Given the description of an element on the screen output the (x, y) to click on. 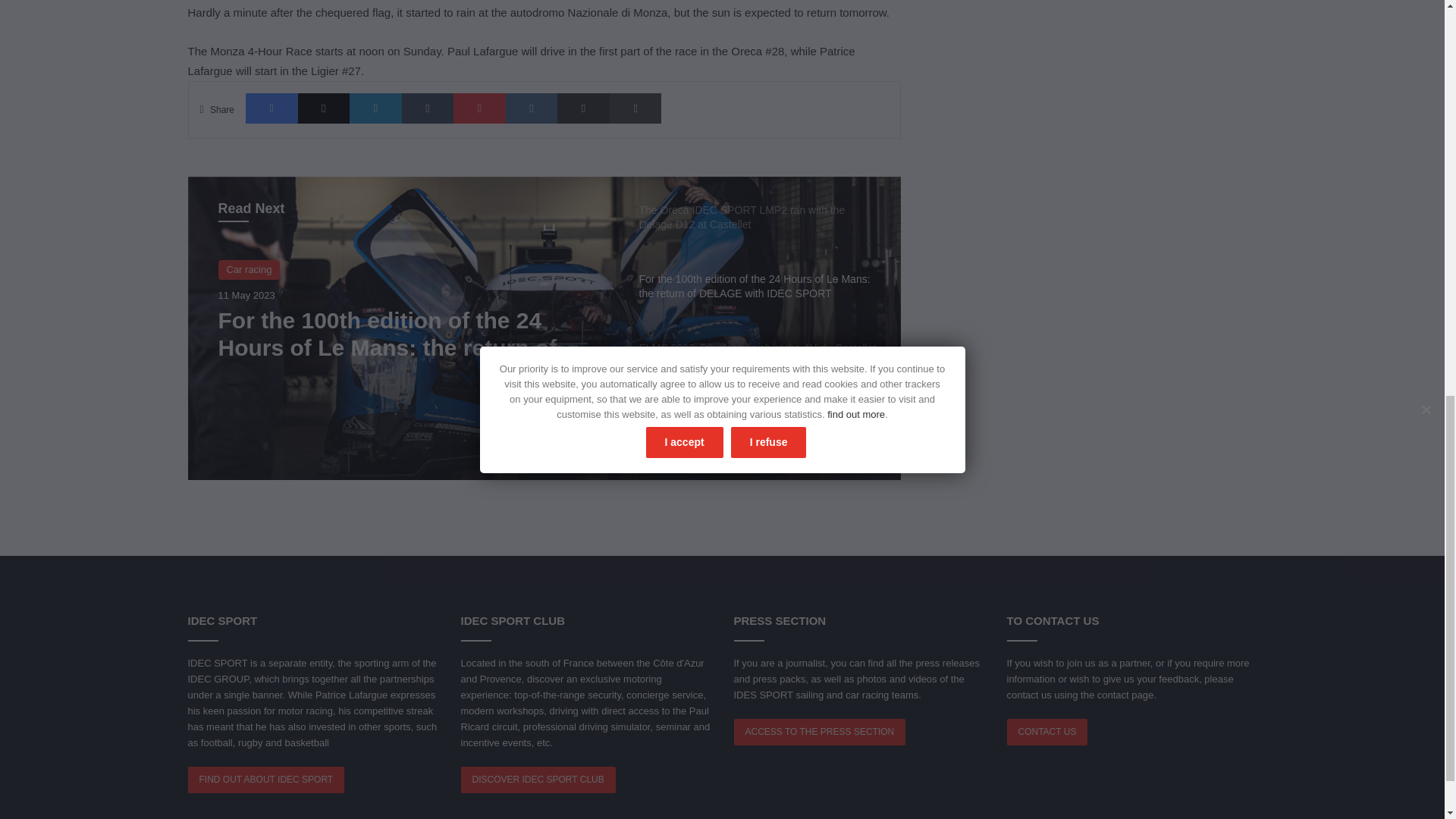
X (324, 108)
VKontakte (531, 108)
Share via Email (583, 108)
Tumblr (427, 108)
Facebook (272, 108)
LinkedIn (375, 108)
Print (636, 108)
Pinterest (478, 108)
